Given the description of an element on the screen output the (x, y) to click on. 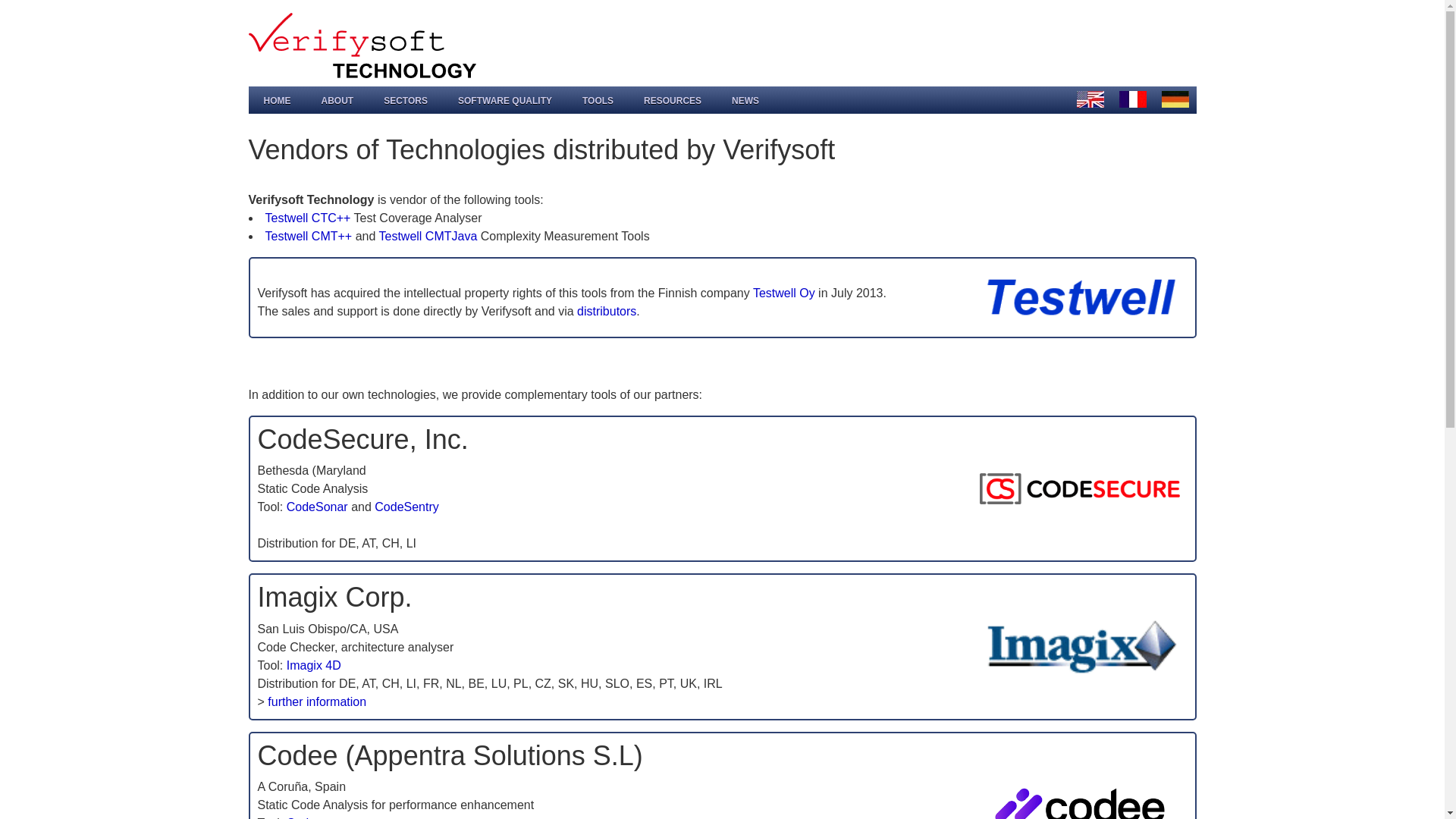
SECTORS (405, 102)
ABOUT (337, 102)
SOFTWARE QUALITY (504, 102)
HOME (276, 102)
